Given the description of an element on the screen output the (x, y) to click on. 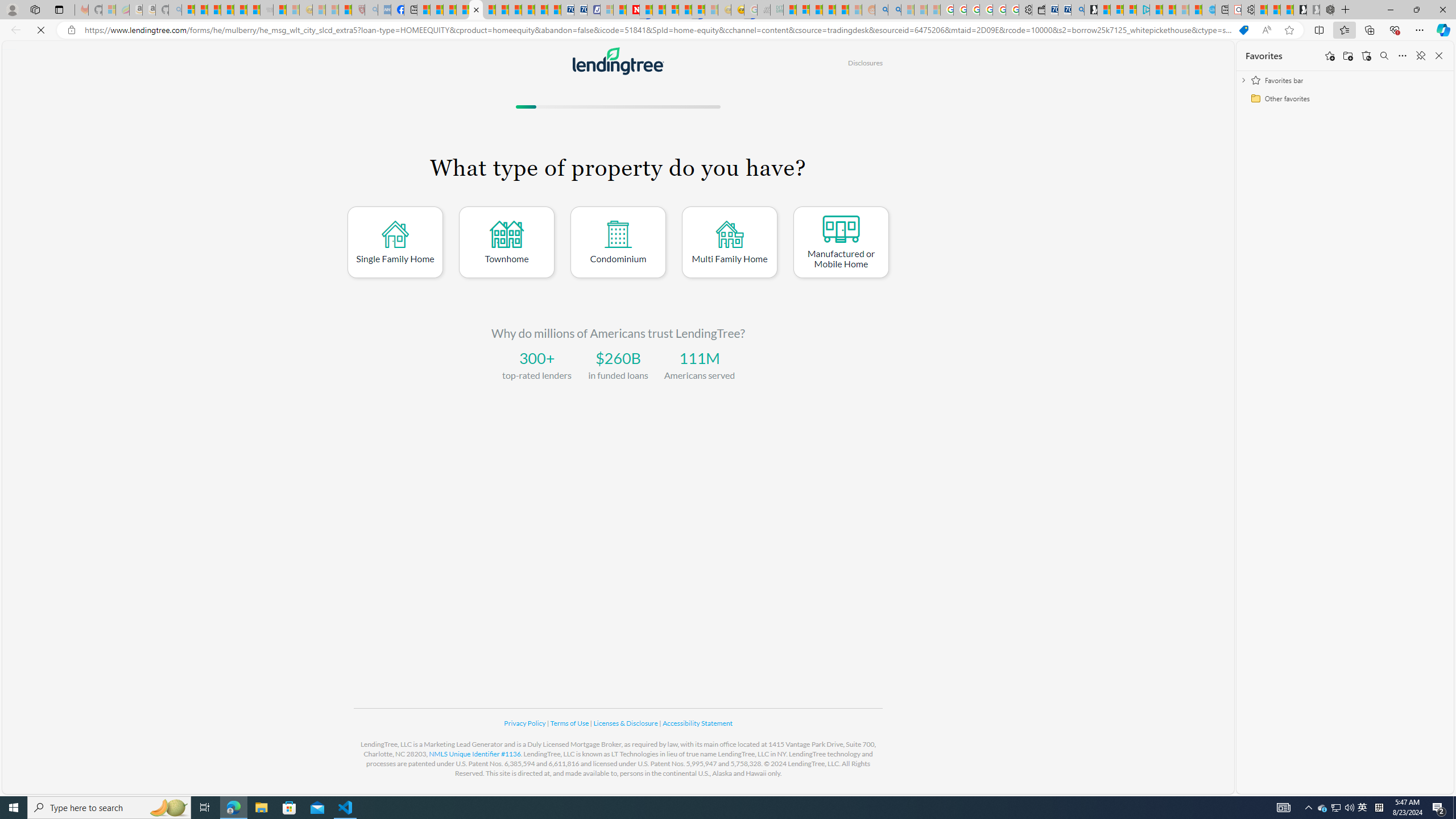
Student Loan Update: Forgiveness Program Ends This Month (842, 9)
Terms of Use  (569, 723)
Bing Real Estate - Home sales and rental listings (1077, 9)
list of asthma inhalers uk - Search - Sleeping (370, 9)
NCL Adult Asthma Inhaler Choice Guideline - Sleeping (384, 9)
